Given the description of an element on the screen output the (x, y) to click on. 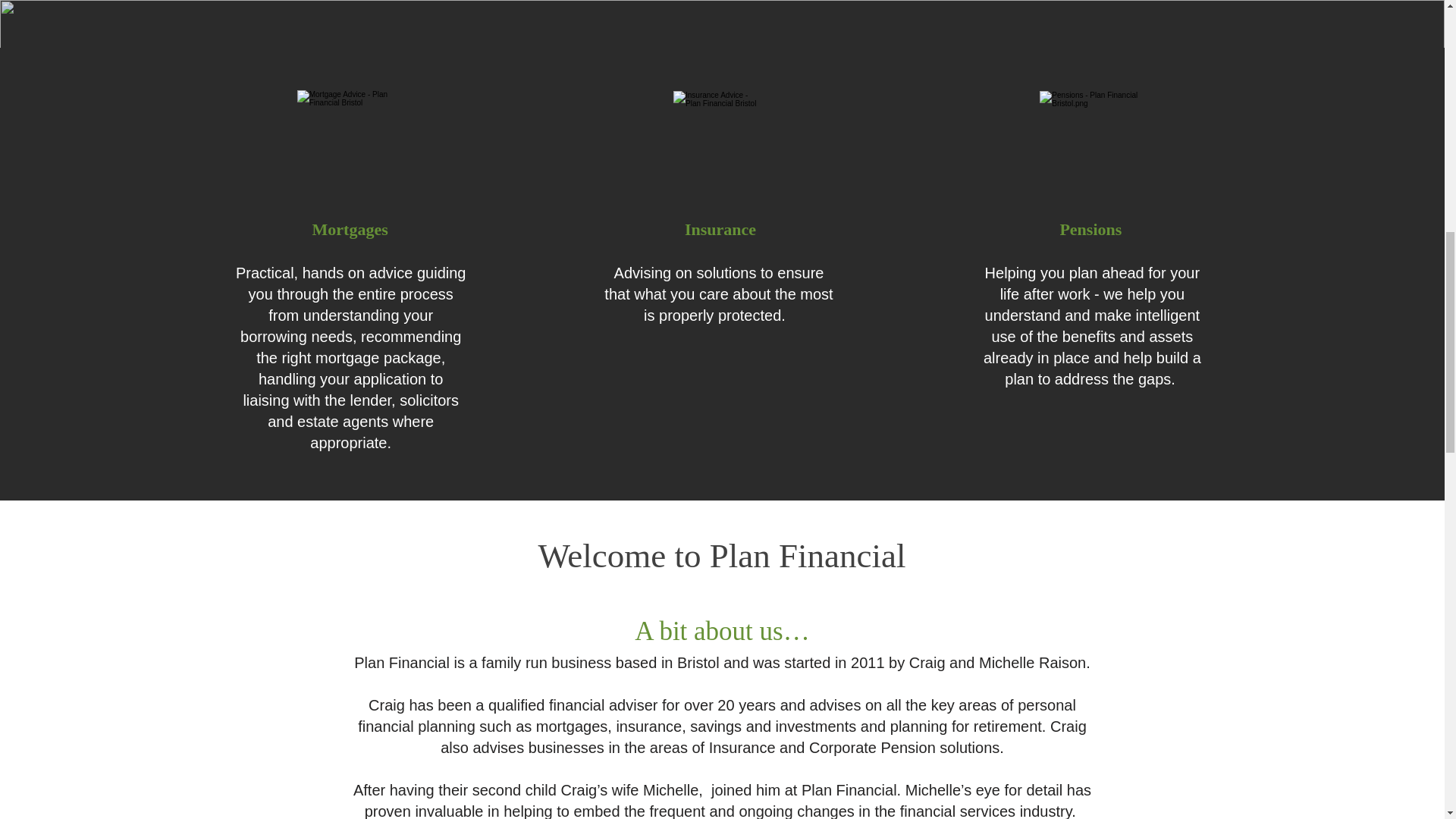
Insurance (719, 229)
savings (715, 725)
Pensions (1090, 229)
Mortgages (350, 229)
